Given the description of an element on the screen output the (x, y) to click on. 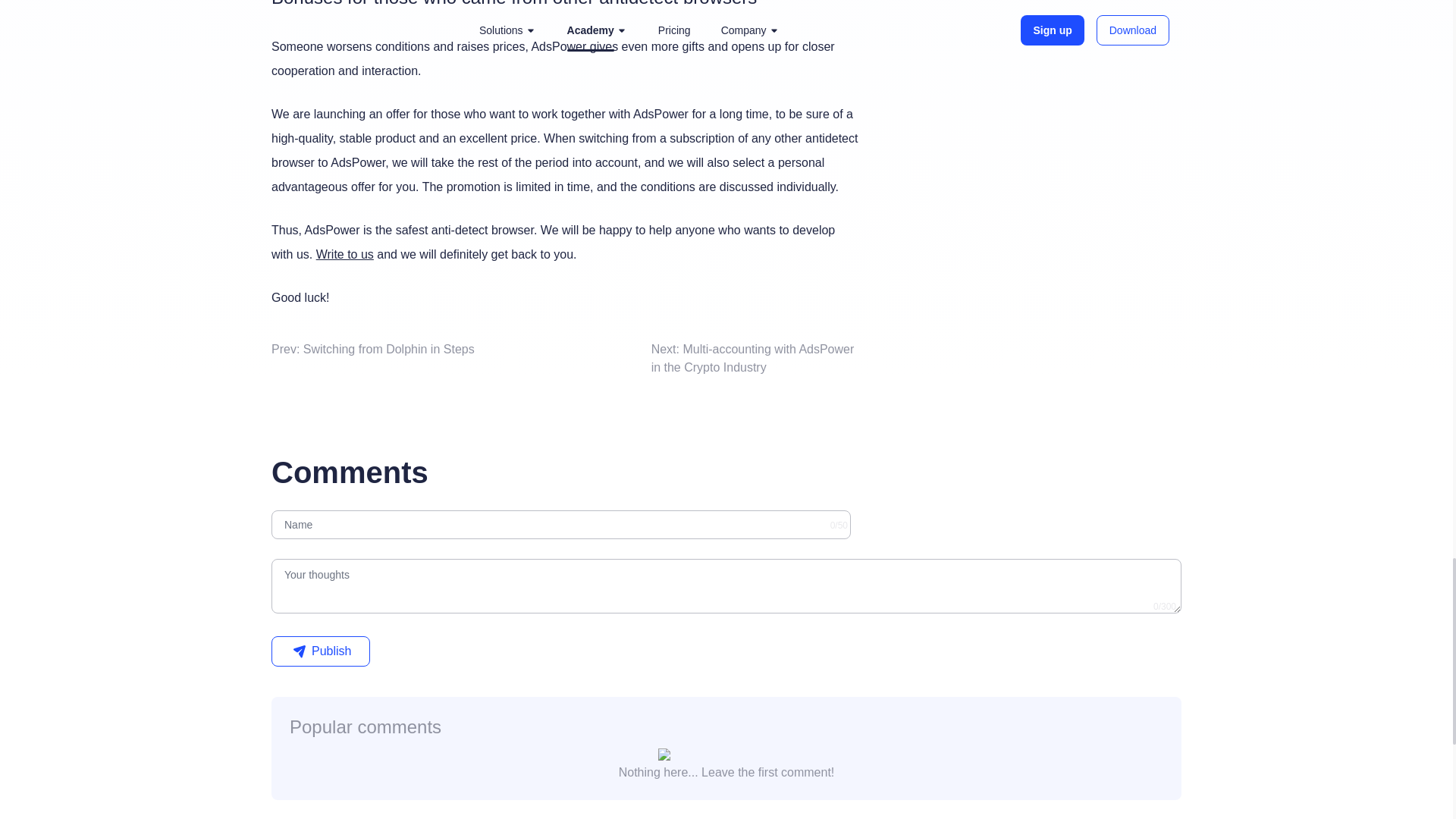
Publish (319, 651)
Write to us (344, 254)
Prev: Switching from Dolphin in Steps (372, 349)
Next: Multi-accounting with AdsPower in the Crypto Industry (752, 358)
